Given the description of an element on the screen output the (x, y) to click on. 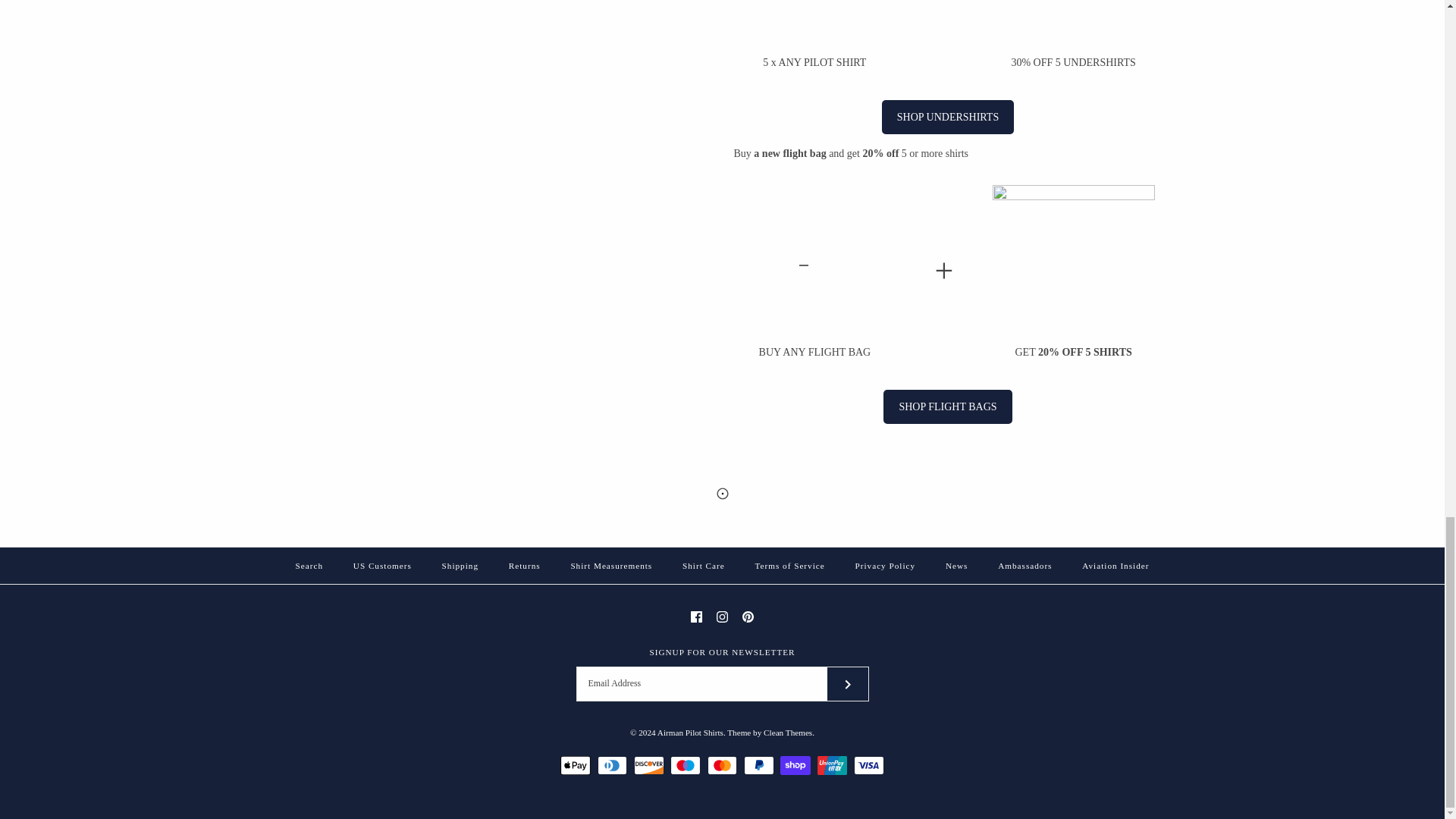
Terms of Service (789, 565)
Instagram (722, 616)
Pinterest (748, 616)
Shirt Care (703, 565)
Facebook (695, 616)
RIGHT (847, 684)
Shipping (460, 565)
SHOP UNDERSHIRTS (947, 116)
SHOP FLIGHT BAGS (947, 406)
US Customers (382, 565)
